Given the description of an element on the screen output the (x, y) to click on. 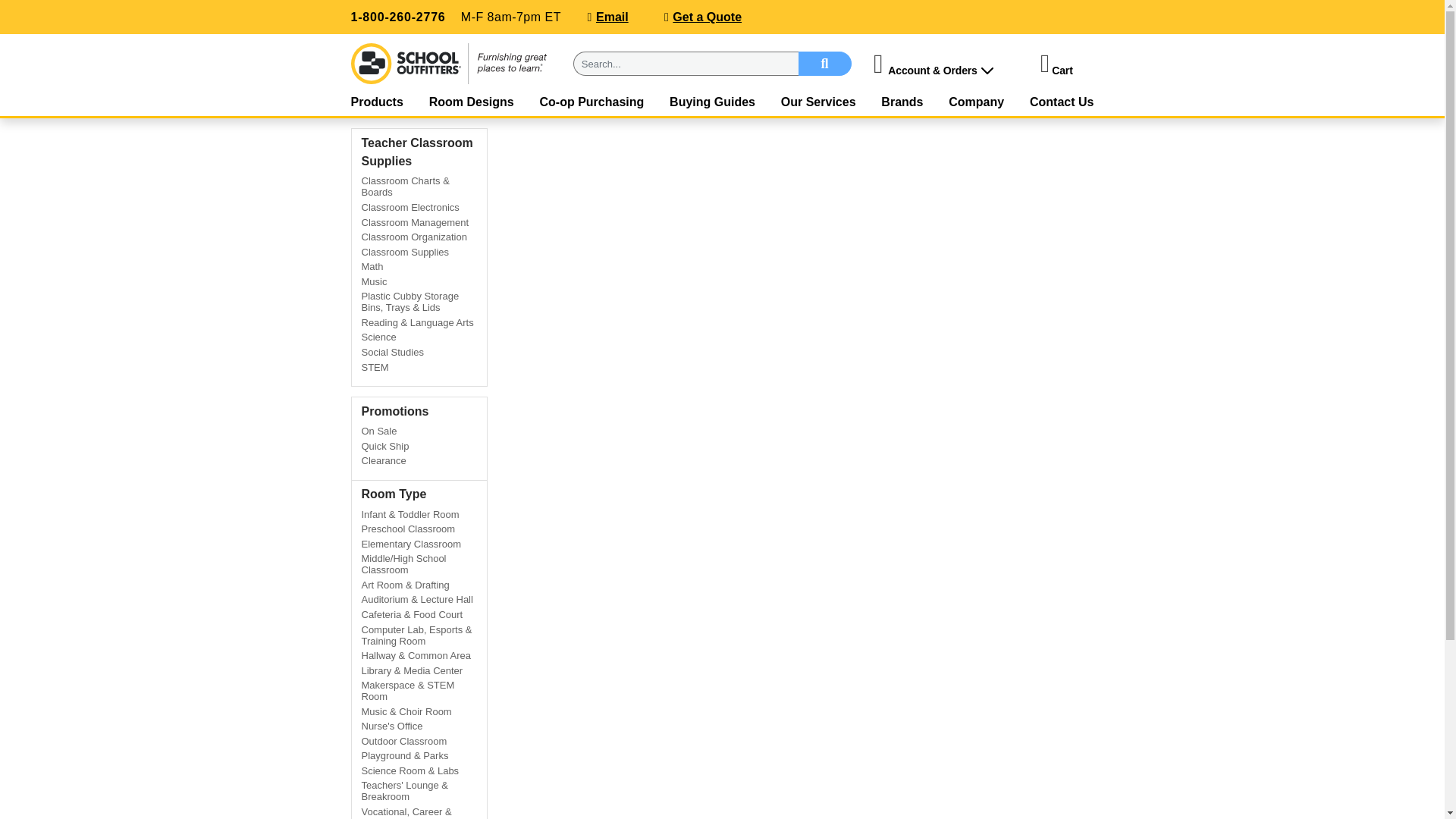
Get a Quote (706, 16)
Email (611, 16)
1-800-260-2776 (397, 16)
Cart (1061, 70)
School Outfitters - Furnishing great places to learn. (448, 63)
